Given the description of an element on the screen output the (x, y) to click on. 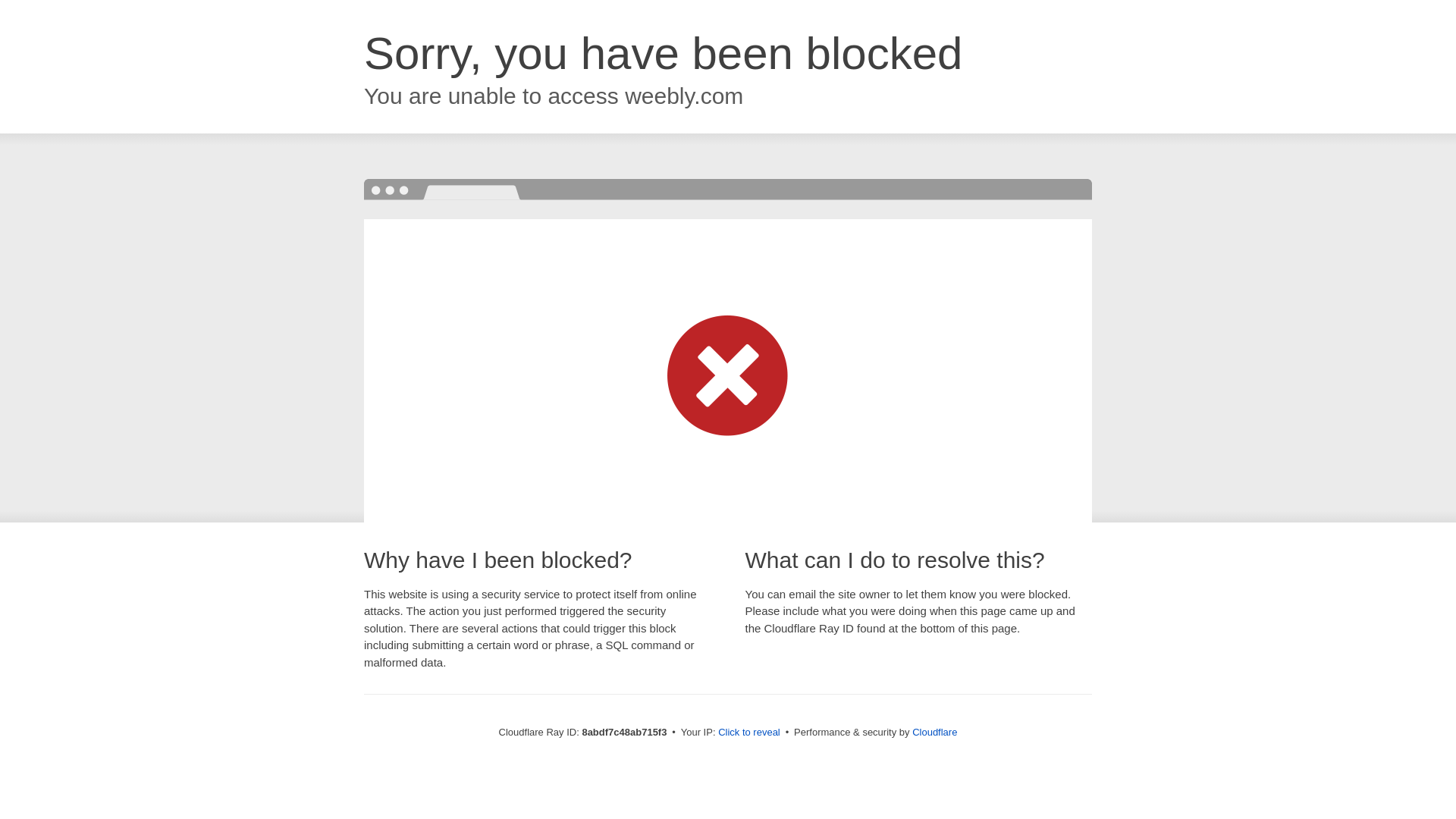
Click to reveal (748, 732)
Cloudflare (934, 731)
